Given the description of an element on the screen output the (x, y) to click on. 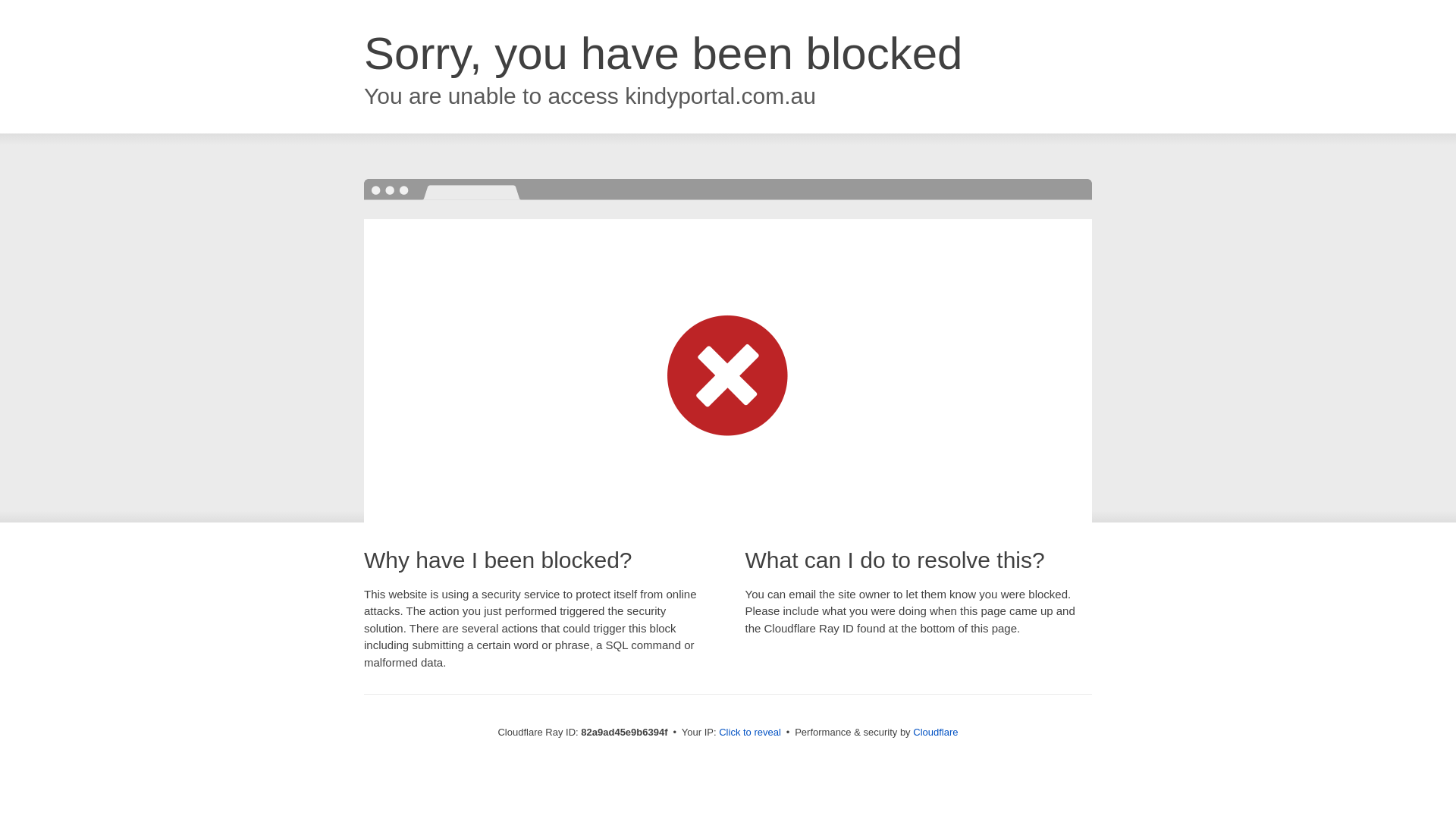
Click to reveal Element type: text (749, 732)
Cloudflare Element type: text (935, 731)
